Given the description of an element on the screen output the (x, y) to click on. 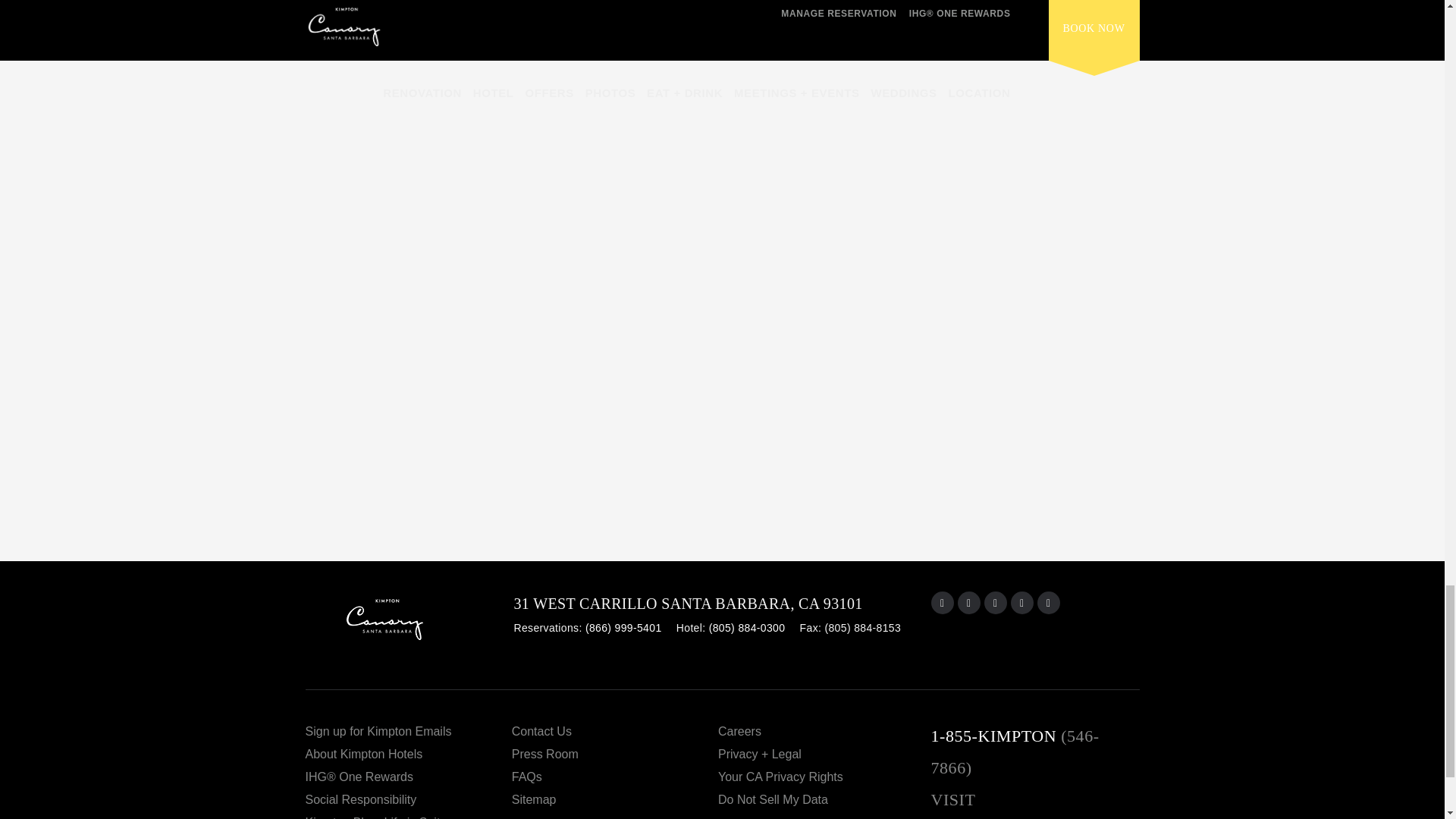
Kimpton Canary Hotel on youtube (995, 602)
Kimpton Canary Hotel on Twitter (1047, 602)
Kimpton Canary Hotel on pinterest (1021, 602)
Kimpton Canary Hotel on Facebook (968, 602)
Home (408, 625)
Kimpton Canary Hotel on Instagram (942, 602)
